Given the description of an element on the screen output the (x, y) to click on. 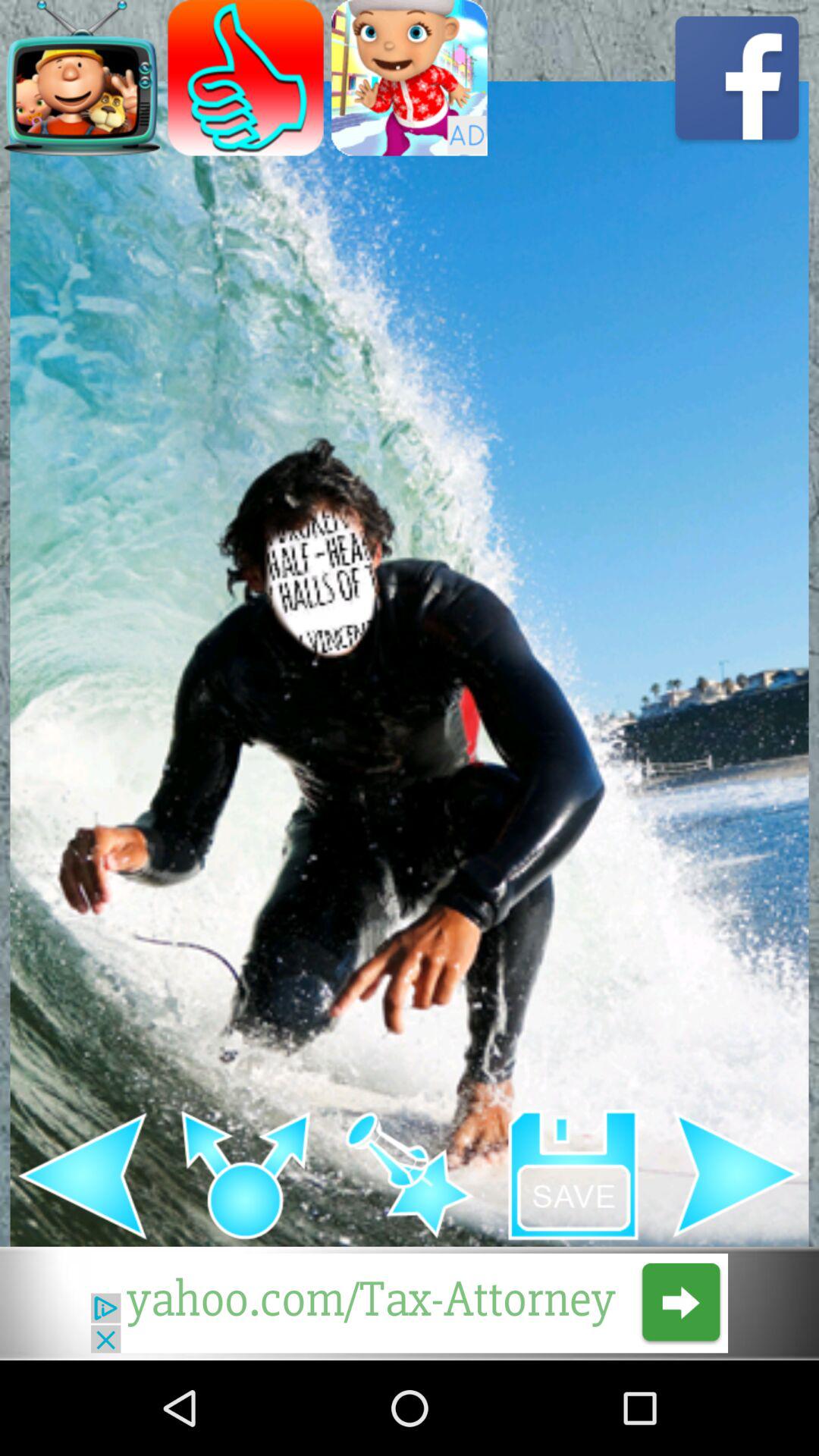
link to facebook (737, 77)
